Given the description of an element on the screen output the (x, y) to click on. 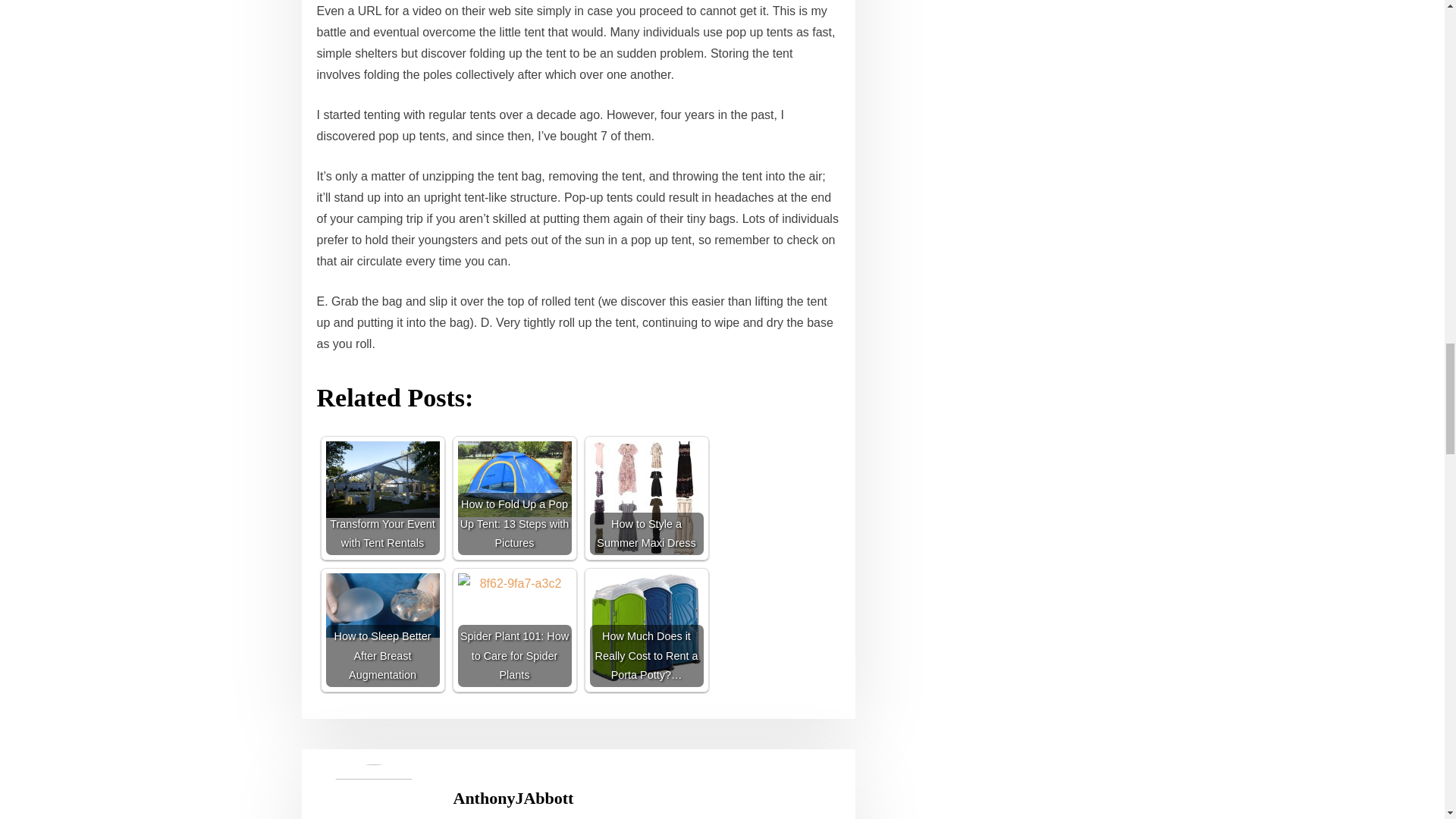
Spider Plant 101: How to Care for Spider Plants (515, 630)
Transform Your Event with Tent Rentals (382, 498)
How to Fold Up a Pop Up Tent: 13 Steps with Pictures (515, 478)
Transform Your Event with Tent Rentals (382, 479)
How to Style a Summer Maxi Dress (646, 498)
How to Sleep Better After Breast Augmentation (382, 630)
How to Sleep Better After Breast Augmentation (382, 605)
How to Fold Up a Pop Up Tent: 13 Steps with Pictures (515, 498)
How to Style a Summer Maxi Dress (646, 498)
